Given the description of an element on the screen output the (x, y) to click on. 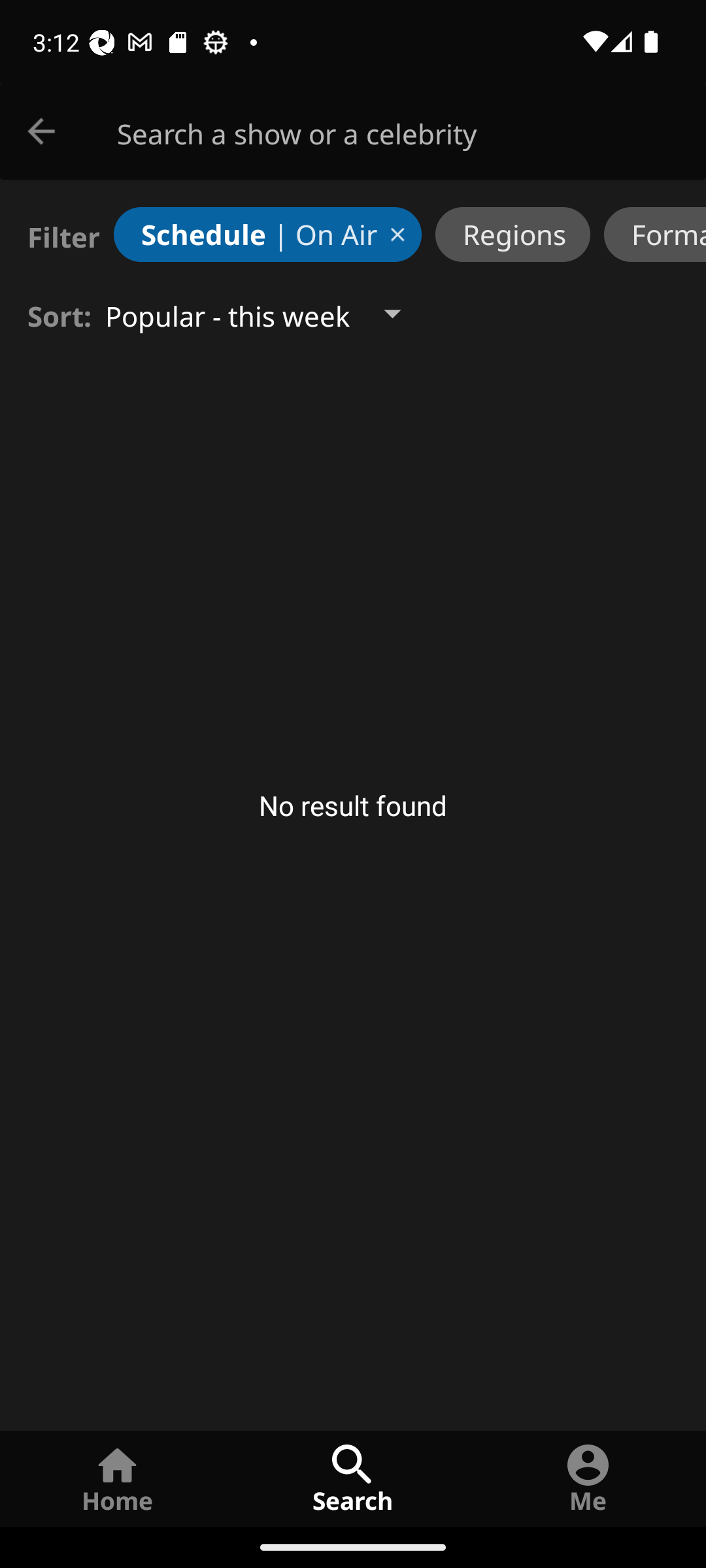
Search a show or a celebrity (411, 131)
Regions filter_button_countries (512, 233)
Formats filter_button_container_type (655, 233)
Popular - this week (269, 313)
Home (117, 1478)
Me (588, 1478)
